Given the description of an element on the screen output the (x, y) to click on. 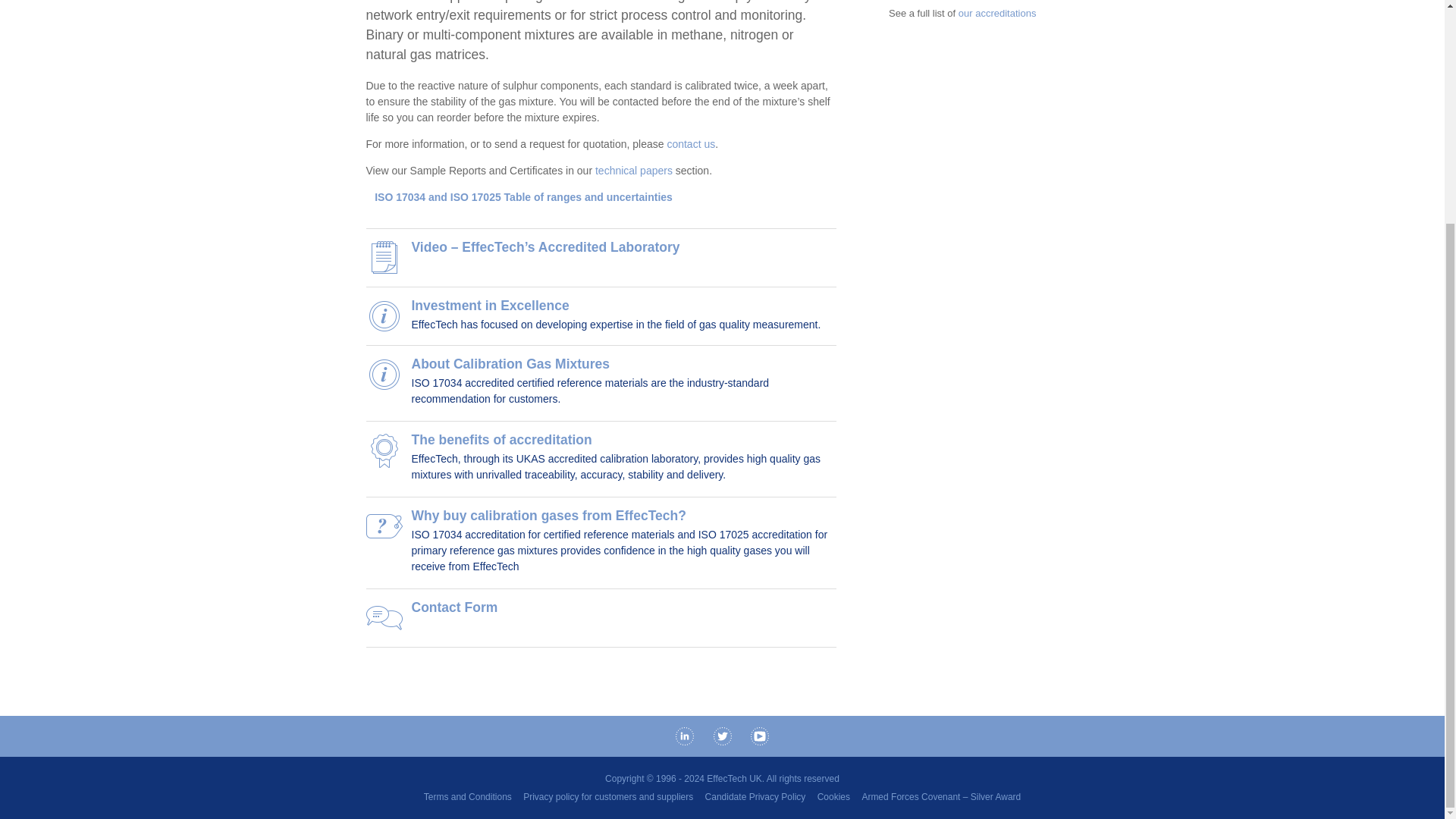
Contact Form (453, 607)
Why buy calibration gases from EffecTech? (547, 515)
The benefits of accreditation (500, 439)
About Calibration Gas Mixtures (510, 363)
Investment in Excellence (489, 305)
